Given the description of an element on the screen output the (x, y) to click on. 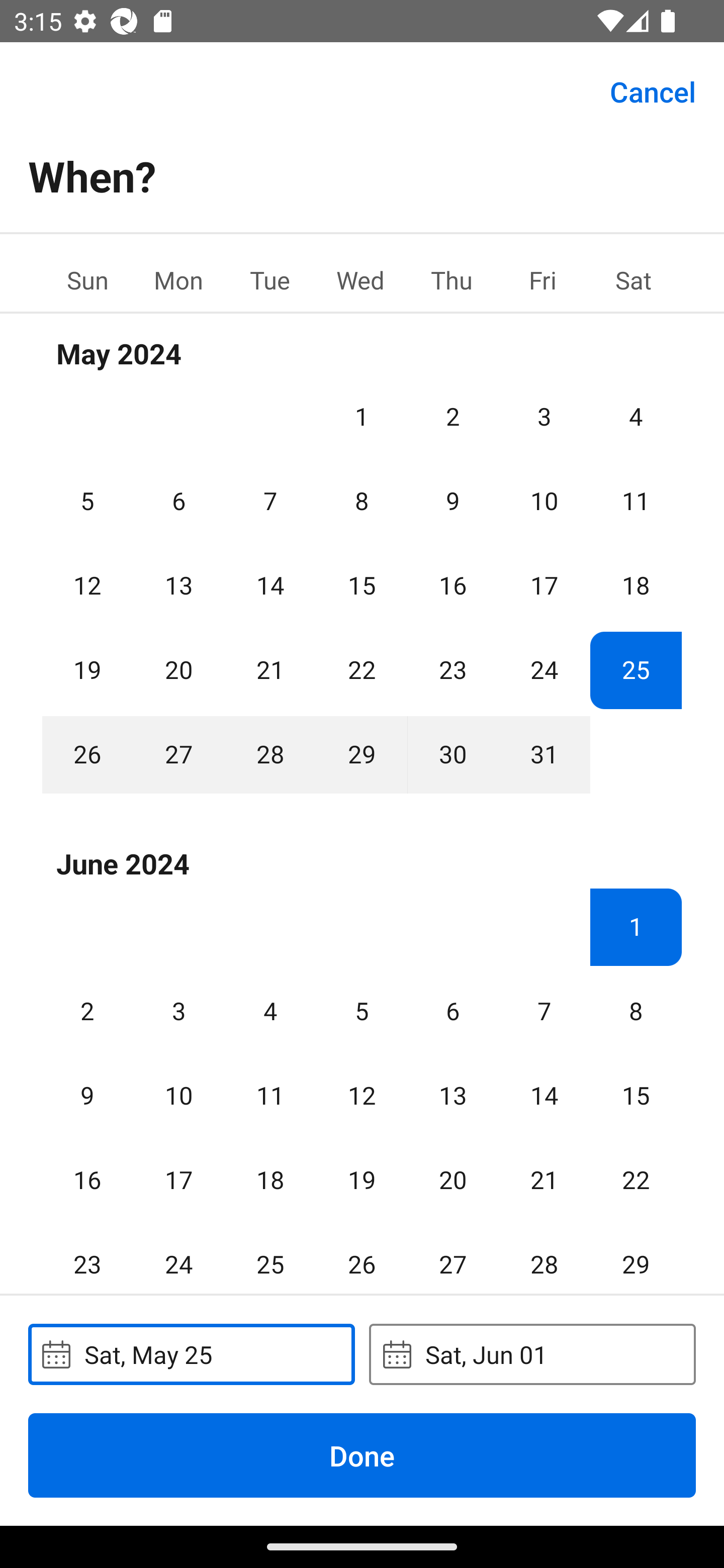
Cancel (652, 90)
Sat, May 25 (191, 1353)
Sat, Jun 01 (532, 1353)
Done (361, 1454)
